Given the description of an element on the screen output the (x, y) to click on. 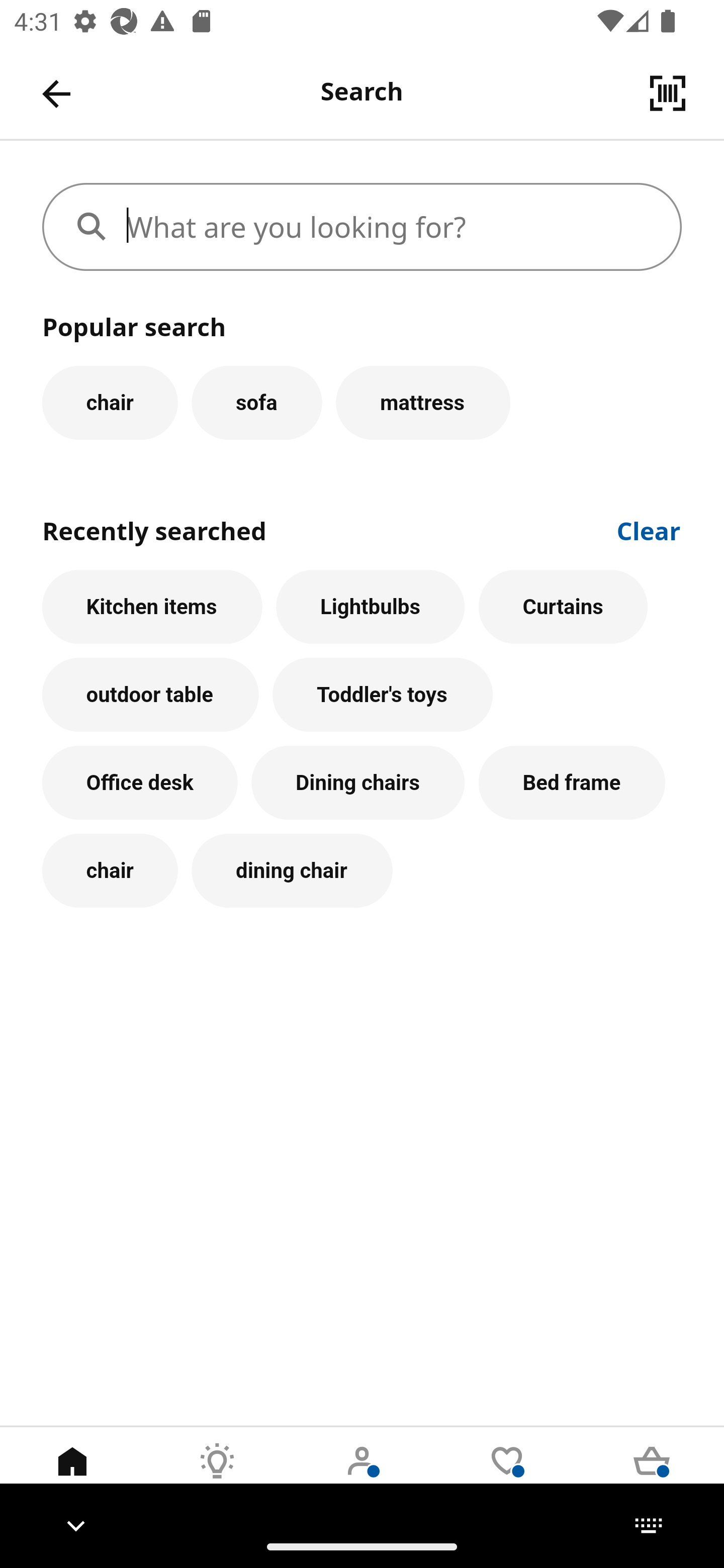
chair (109, 402)
sofa (256, 402)
mattress (423, 402)
Clear (649, 528)
Kitchen items (151, 606)
Lightbulbs (370, 606)
Curtains (562, 606)
outdoor table (150, 695)
Toddler's toys (382, 695)
Office desk (139, 783)
Dining chairs (357, 783)
Bed frame (571, 783)
chair (109, 870)
dining chair (291, 870)
Home
Tab 1 of 5 (72, 1476)
Inspirations
Tab 2 of 5 (216, 1476)
User
Tab 3 of 5 (361, 1476)
Wishlist
Tab 4 of 5 (506, 1476)
Cart
Tab 5 of 5 (651, 1476)
